Given the description of an element on the screen output the (x, y) to click on. 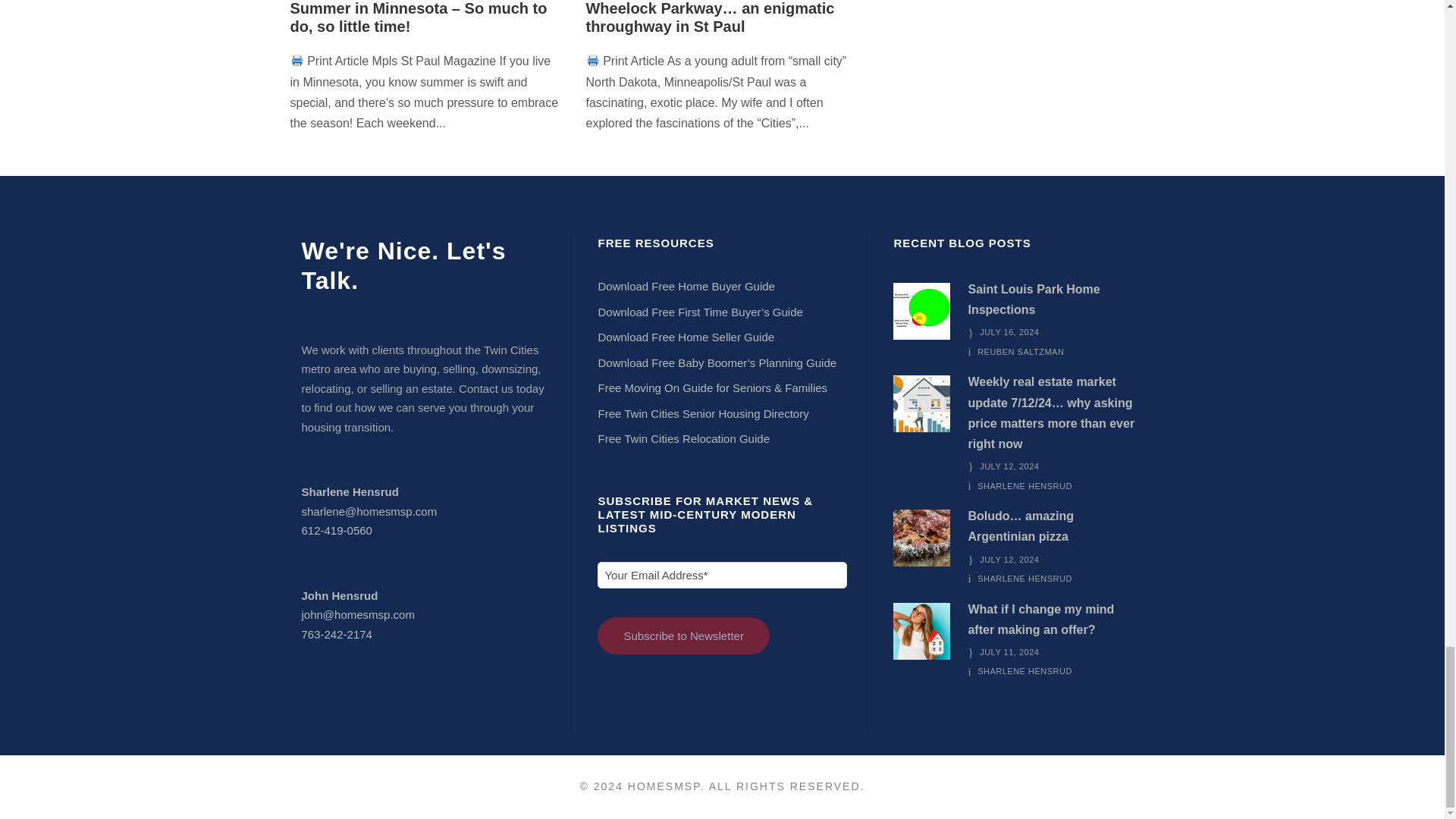
Subscribe to Newsletter (682, 635)
Posts by Reuben Saltzman (1020, 351)
ST vs SLP Venn Diagram Square (921, 310)
pricing2 (921, 403)
